Given the description of an element on the screen output the (x, y) to click on. 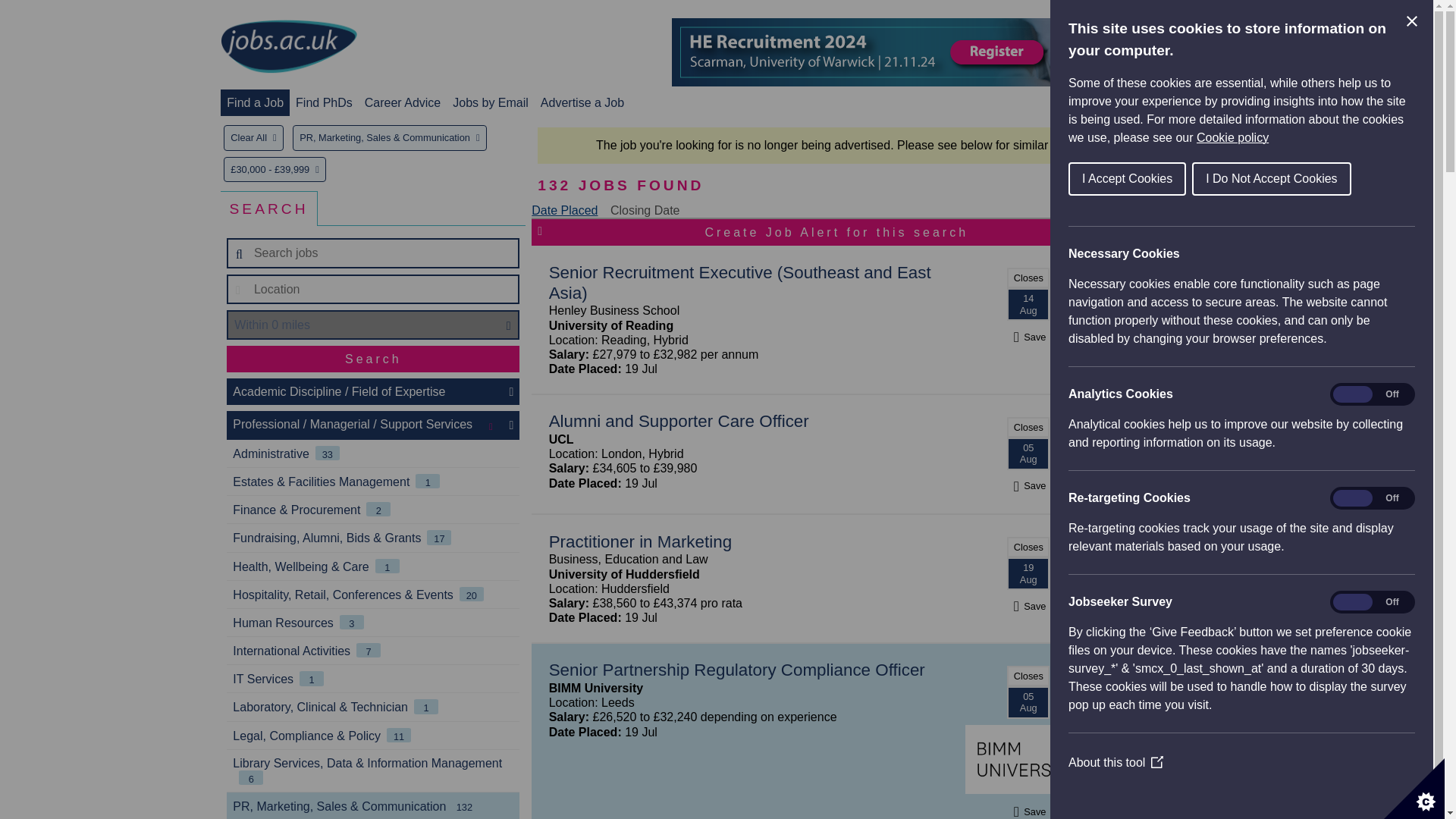
HE RECRUITMENT 2024 (947, 52)
Practitioner in Marketing (640, 541)
Save job (1027, 605)
Career Advice (403, 102)
Alumni and Supporter Care Officer (678, 420)
Save job (1027, 485)
Find PhDs (323, 102)
Closing Date (644, 210)
Senior Partnership Regulatory Compliance Officer (736, 669)
Save job (1027, 336)
Create Job Alert for this search (836, 232)
Save (1027, 336)
Create Job Alert for this search (836, 232)
I Accept Cookies (1267, 178)
home page (288, 47)
